Given the description of an element on the screen output the (x, y) to click on. 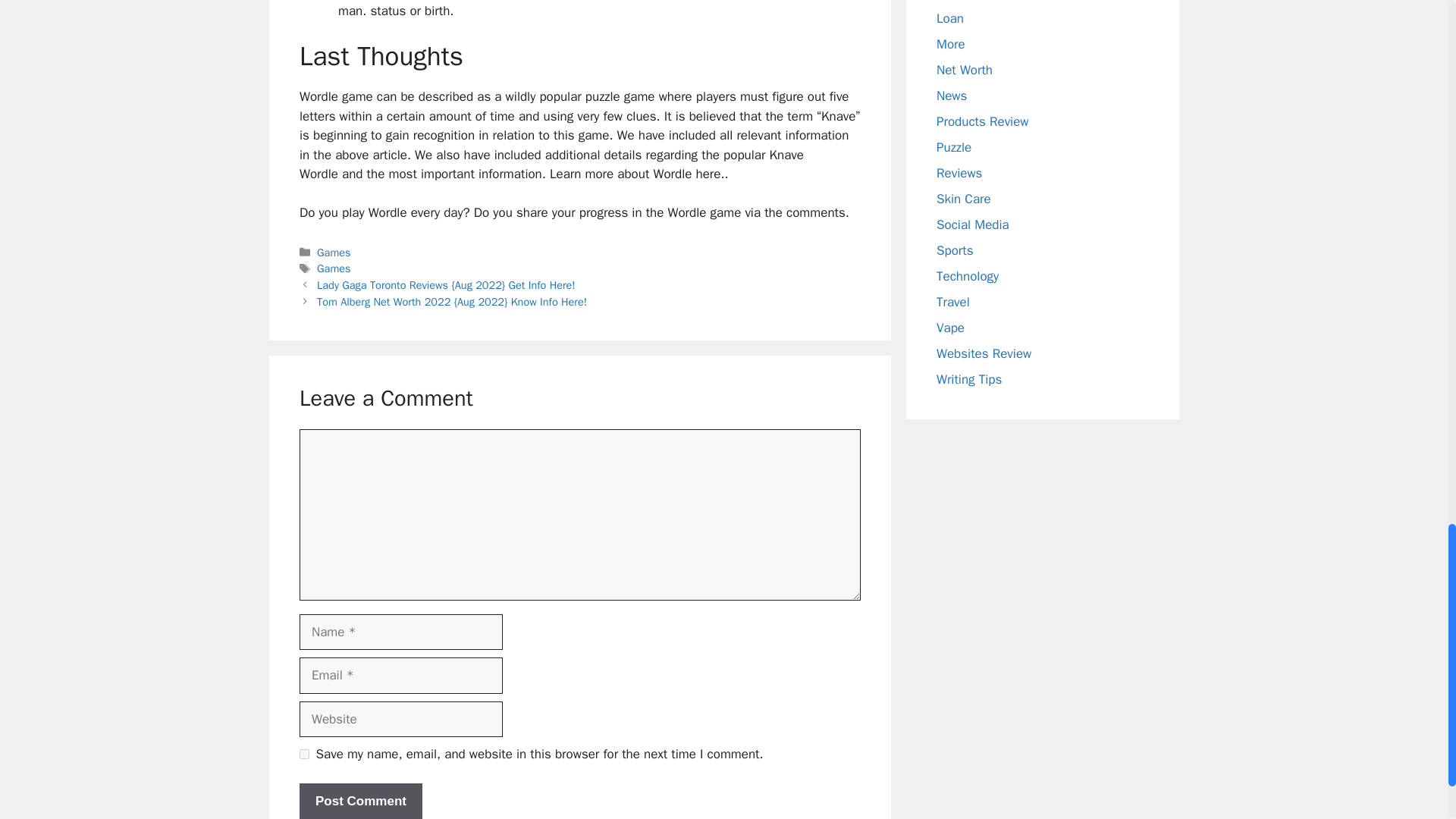
Games (333, 252)
yes (303, 754)
Post Comment (360, 800)
Games (333, 268)
Post Comment (360, 800)
